Given the description of an element on the screen output the (x, y) to click on. 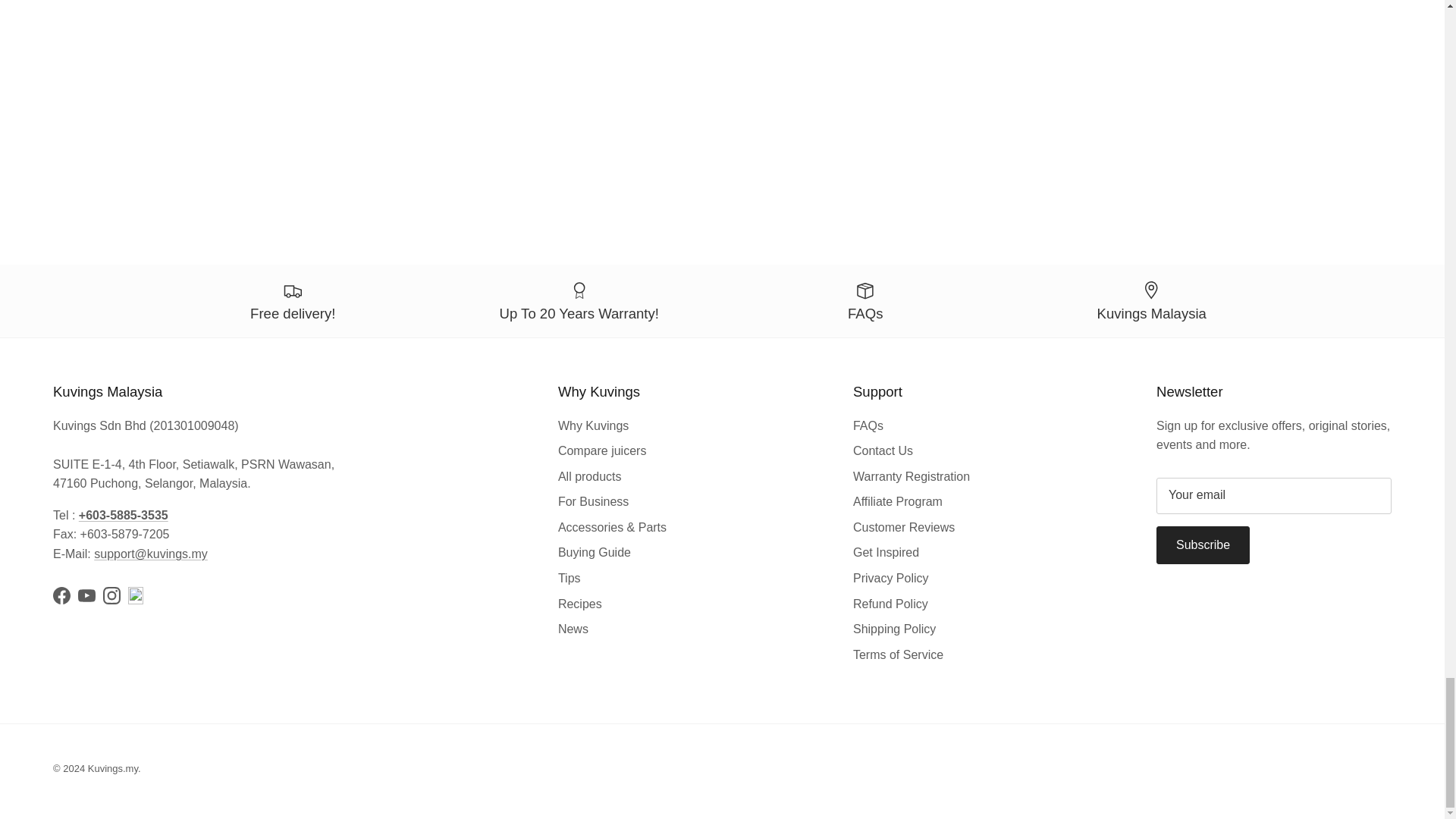
Kuvings.my on Facebook (60, 595)
Kuvings.my on YouTube (87, 595)
Kuvings.my on Instagram (111, 595)
